Given the description of an element on the screen output the (x, y) to click on. 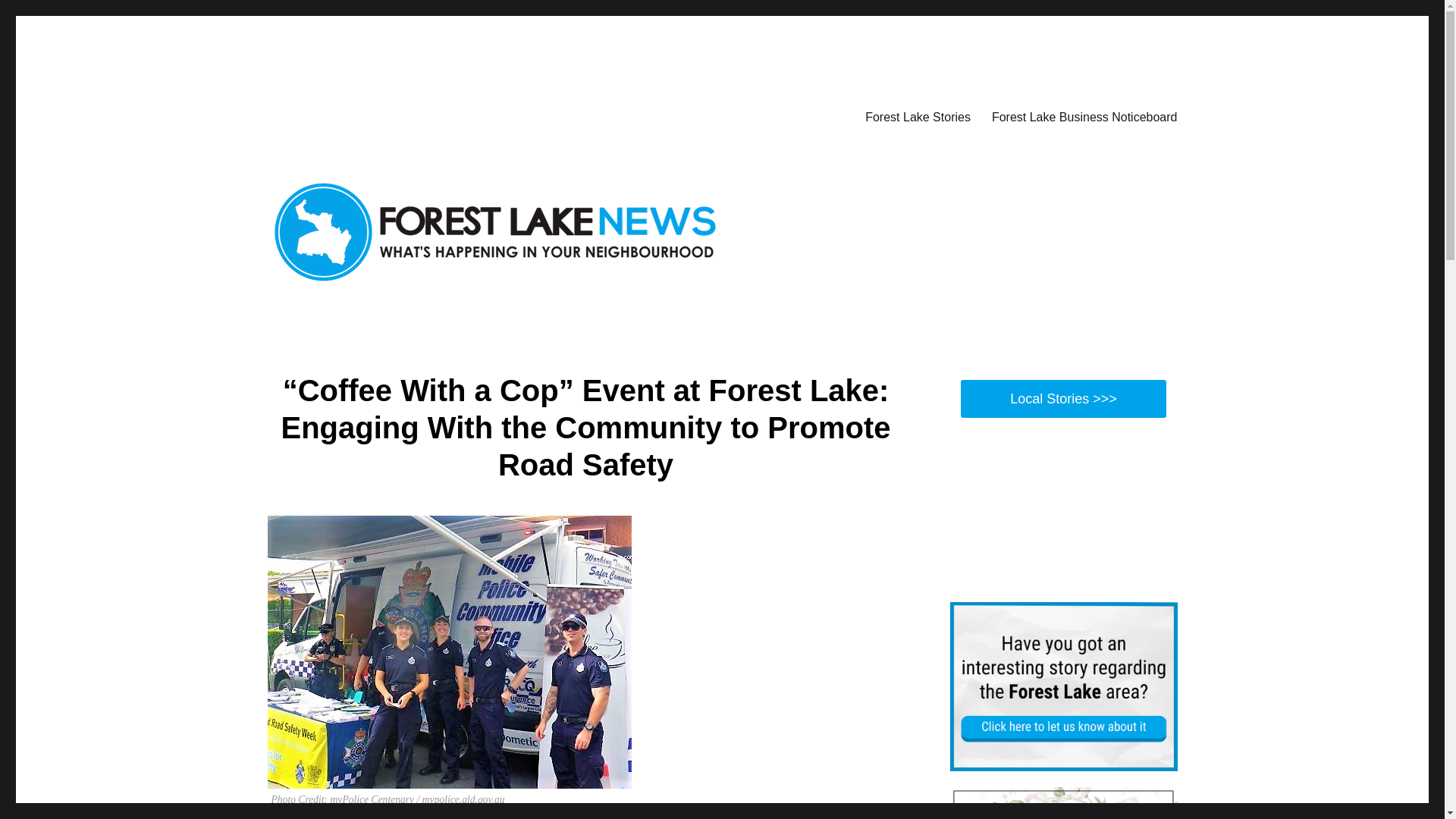
Forest Lake Business Noticeboard (1084, 116)
Forest Lake Stories (917, 116)
Forest Lake News (356, 114)
